Given the description of an element on the screen output the (x, y) to click on. 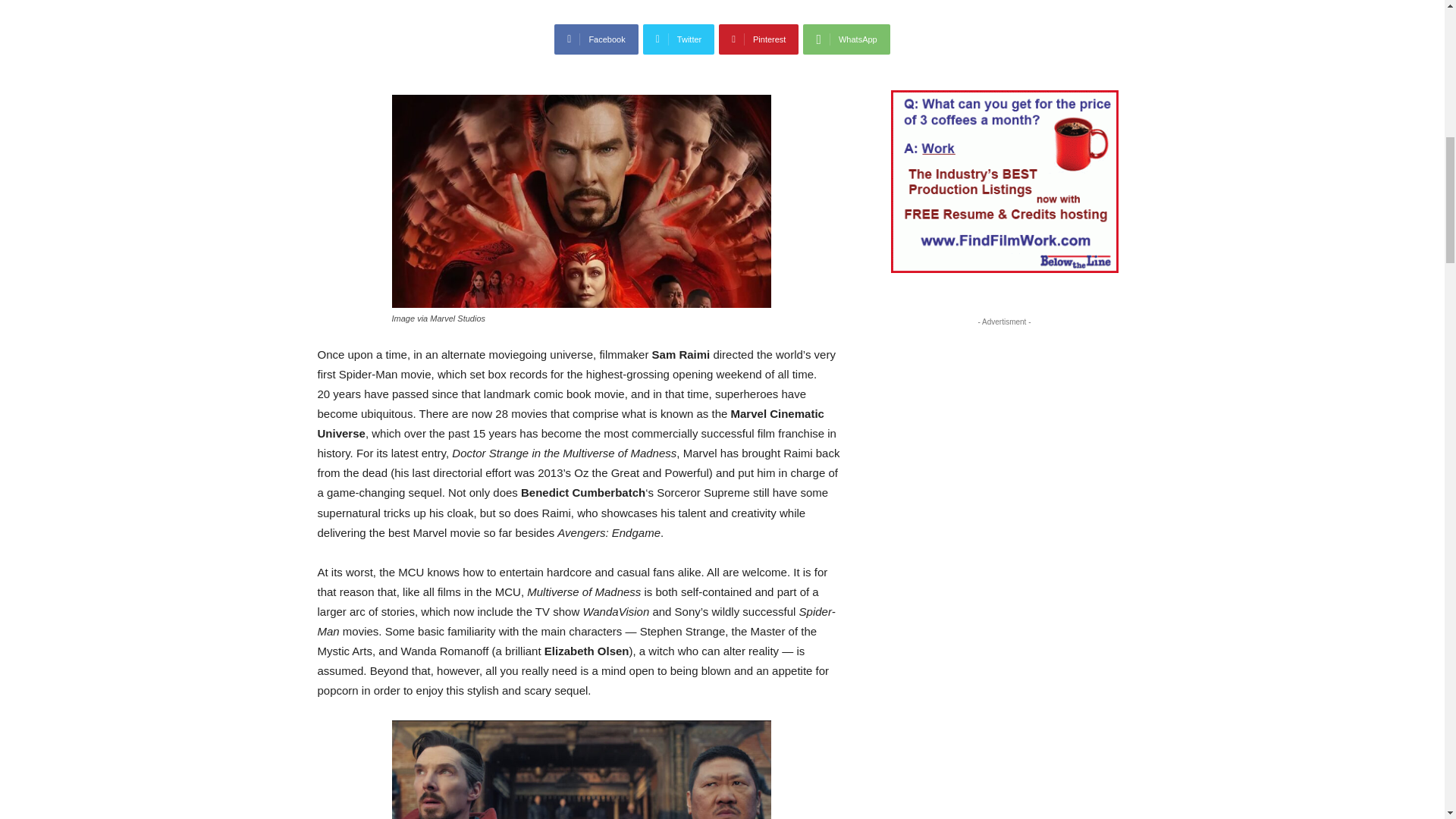
Twitter (678, 39)
WhatsApp (846, 39)
Pinterest (758, 39)
Facebook (595, 39)
